Given the description of an element on the screen output the (x, y) to click on. 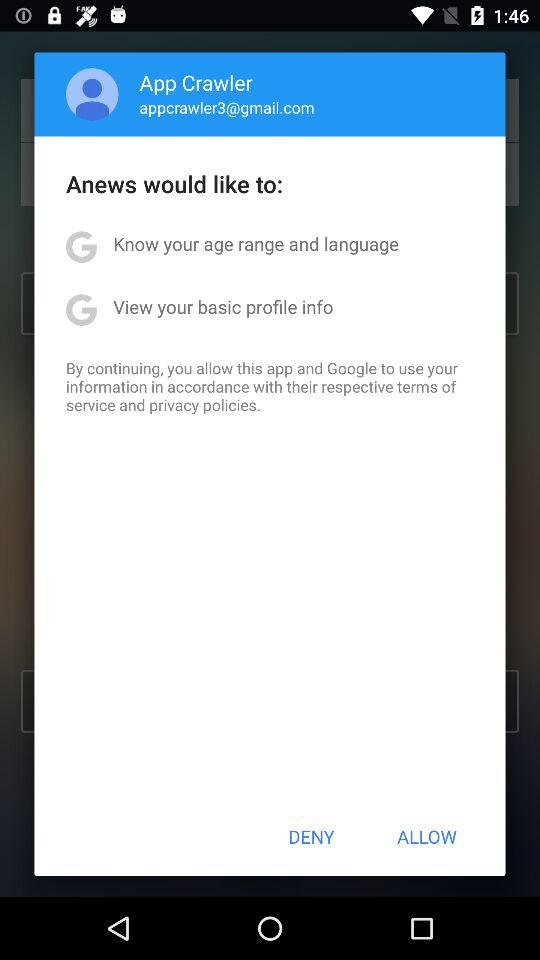
turn on icon above the view your basic (255, 243)
